Given the description of an element on the screen output the (x, y) to click on. 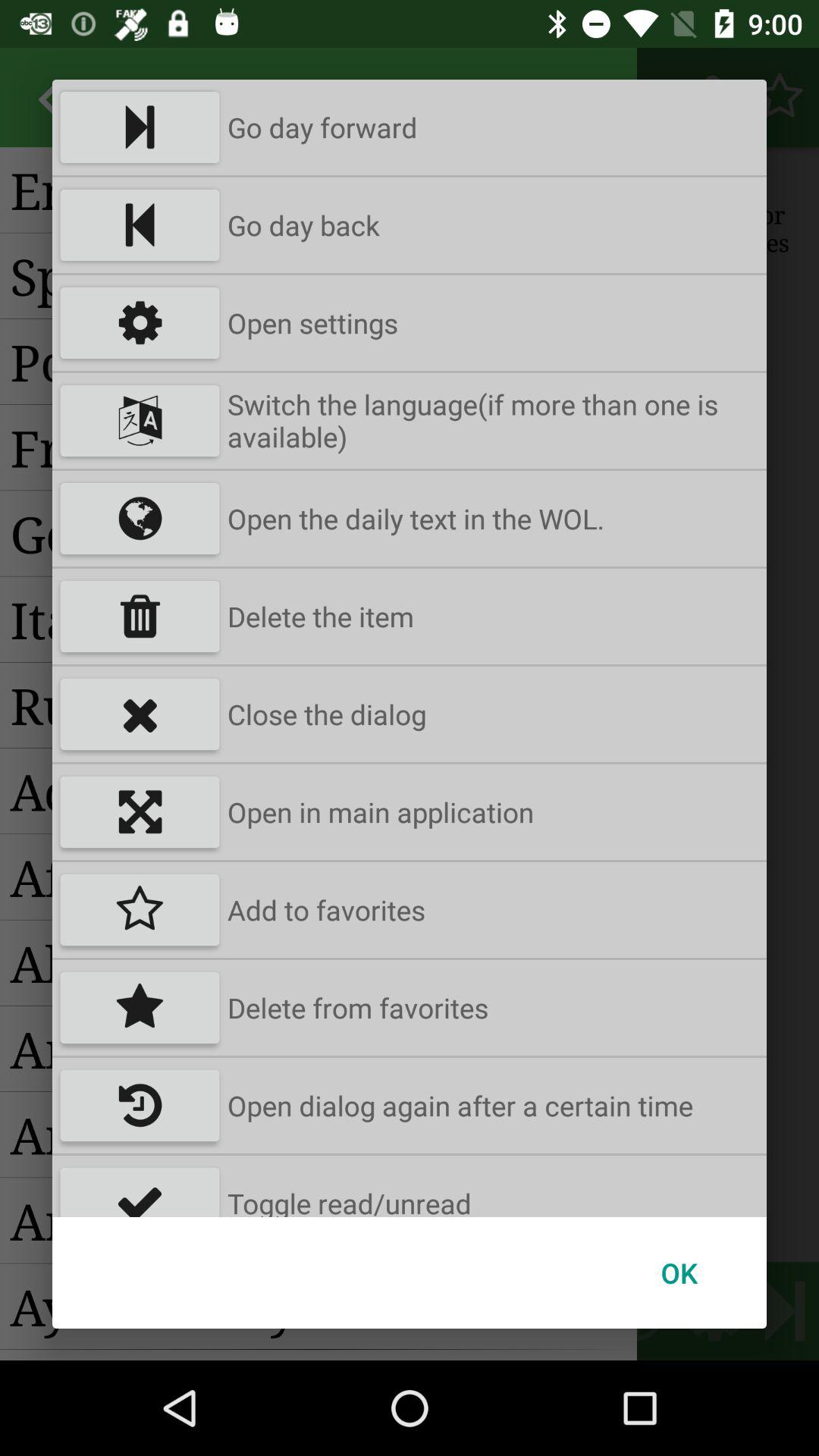
open the icon to the left of the open the daily icon (139, 518)
